Given the description of an element on the screen output the (x, y) to click on. 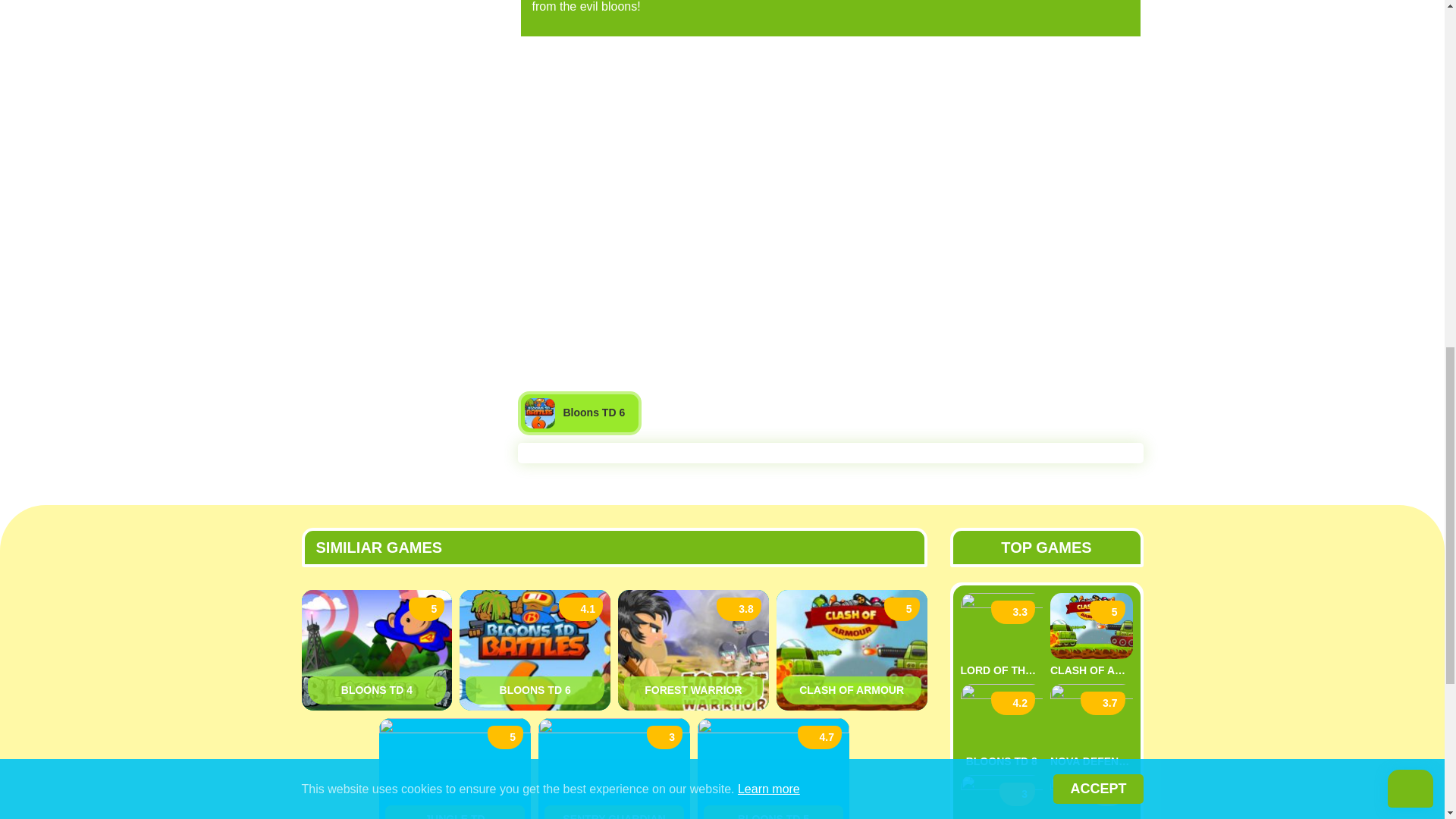
BLOONS TD 6 (534, 690)
Bloons TD 6 (534, 690)
SENTRY GUARDIAN (614, 812)
CLASH OF ARMOUR (852, 690)
BLOONS TD 4 (376, 690)
BLOONS TD 5 (773, 812)
Bloons TD 6 (579, 412)
JUNGLE TD (454, 812)
FOREST WARRIOR (693, 690)
Bloons TD 4 (376, 690)
